Given the description of an element on the screen output the (x, y) to click on. 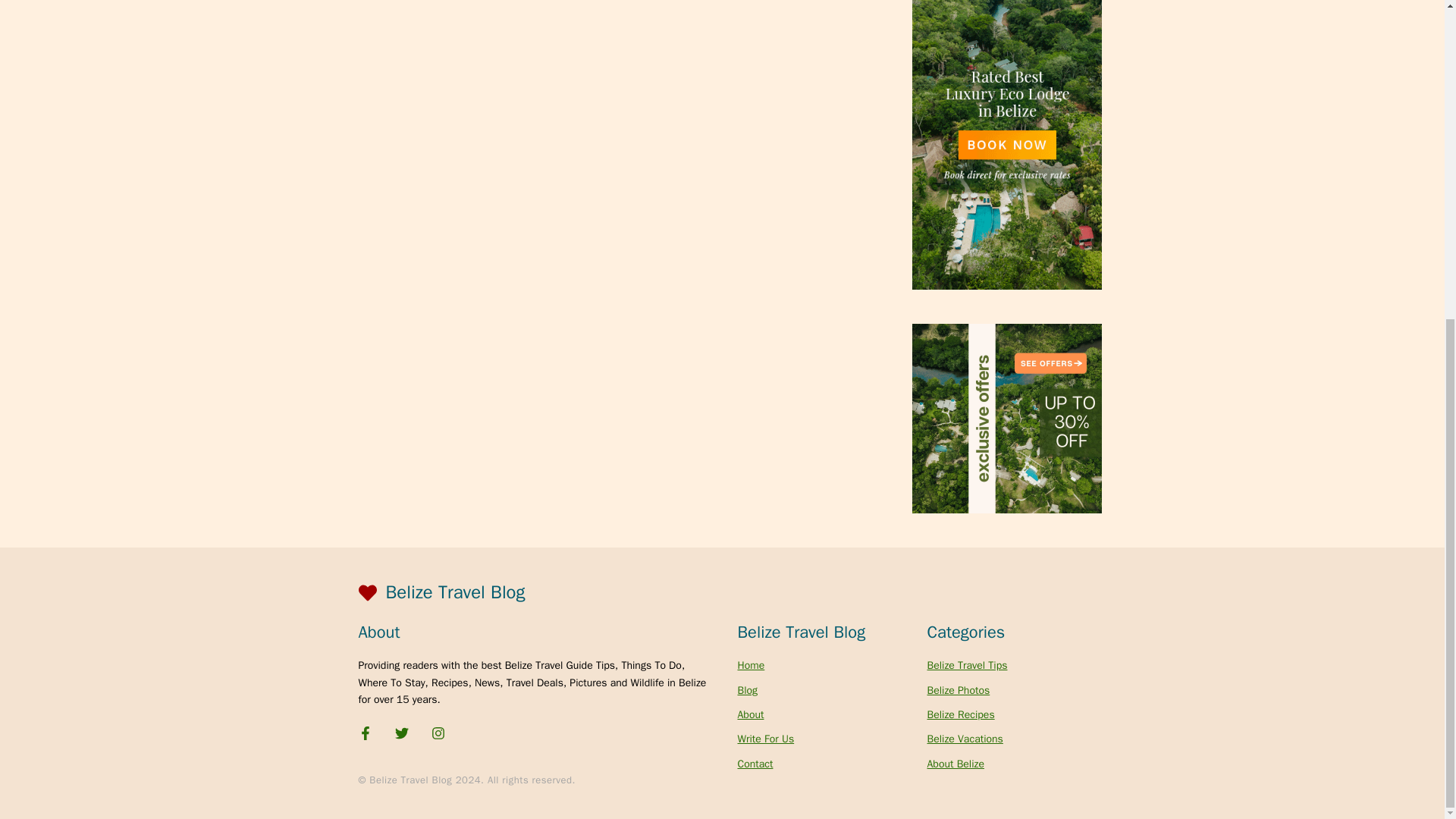
Belize Recipes (960, 714)
Home (750, 665)
Write For Us (764, 738)
Belize Photos (958, 689)
Contact (754, 763)
Belize Vacations (964, 738)
Blog (746, 689)
About (749, 714)
Belize Travel Tips (966, 665)
